Given the description of an element on the screen output the (x, y) to click on. 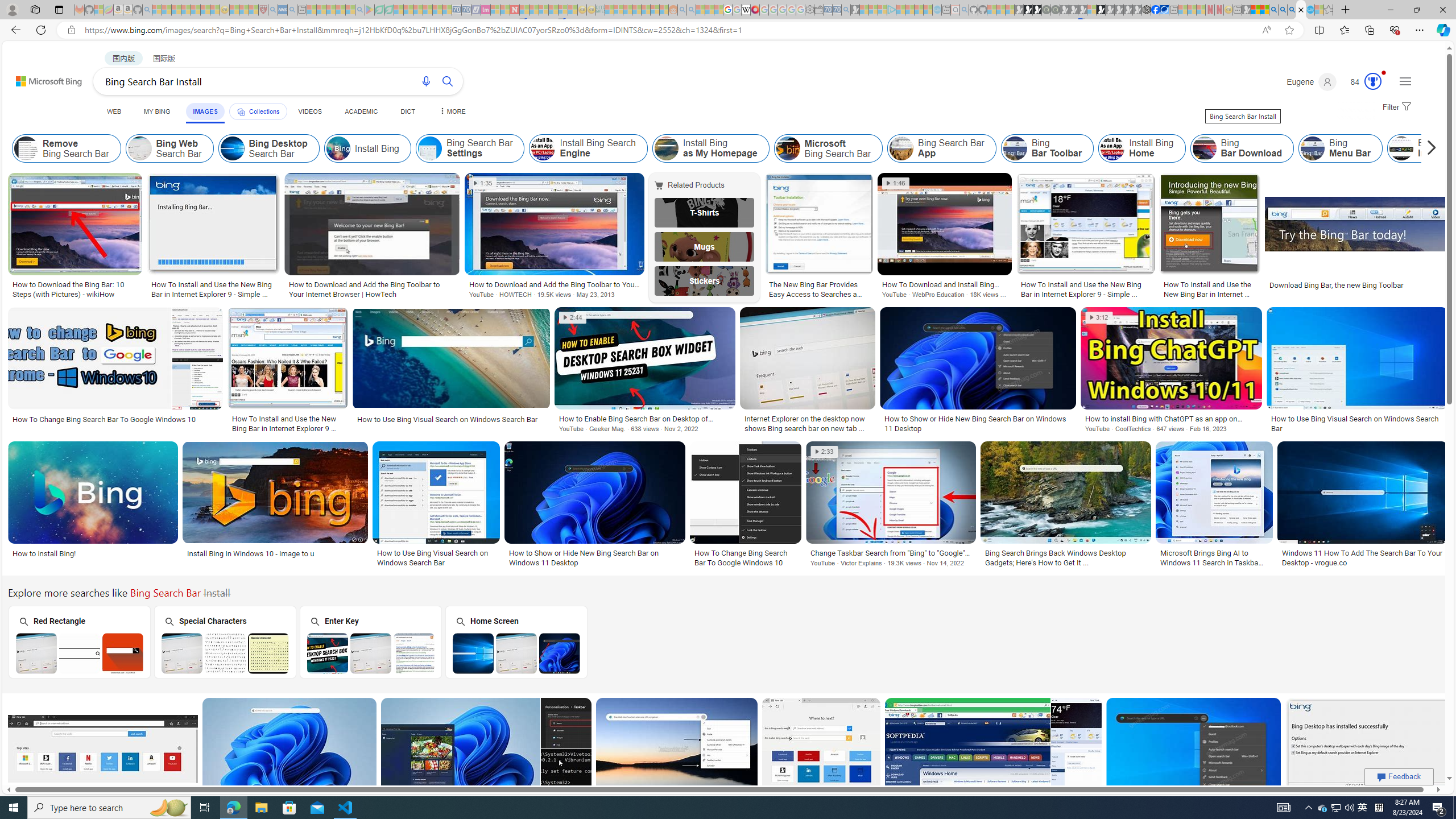
Bing Bar Toolbar (1014, 148)
Target page - Wikipedia (745, 9)
Latest Politics News & Archive | Newsweek.com - Sleeping (514, 9)
Bing Stickers (704, 280)
Dropdown Menu (451, 111)
